Given the description of an element on the screen output the (x, y) to click on. 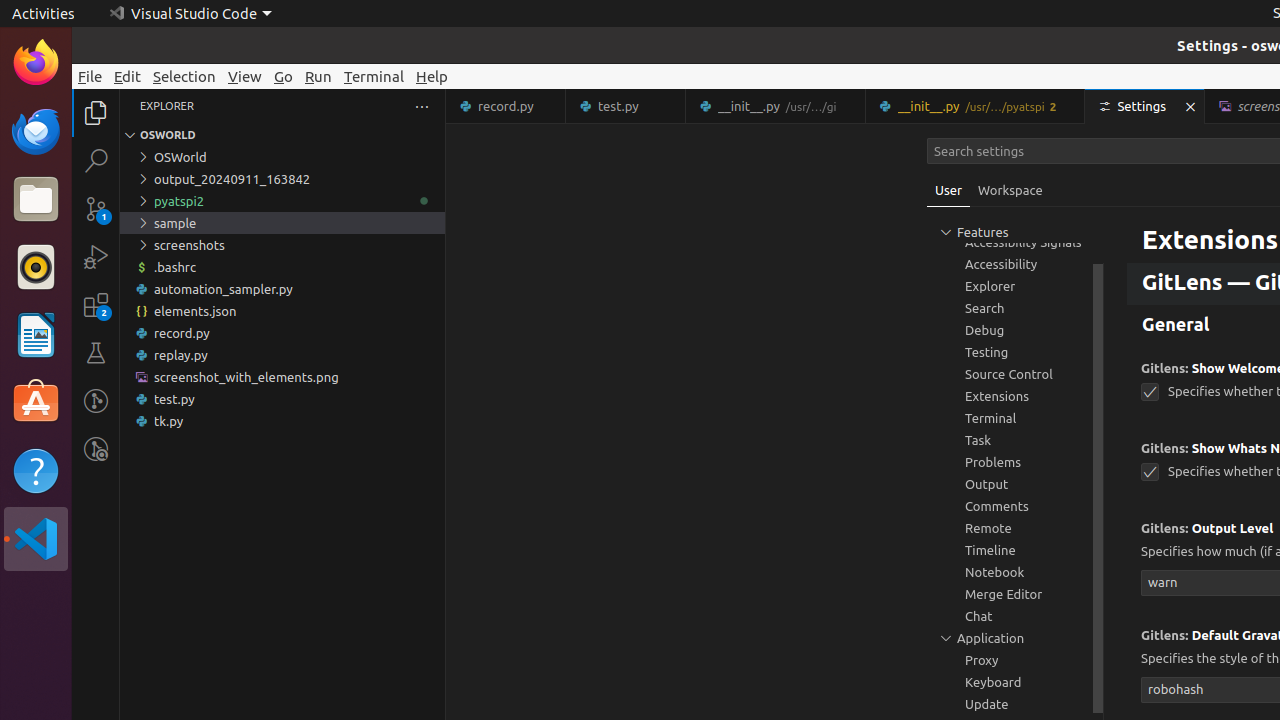
automation_sampler.py Element type: tree-item (282, 289)
Features, group Element type: tree-item (1015, 220)
Chat, group Element type: tree-item (1015, 616)
Selection Element type: push-button (184, 76)
tk.py Element type: tree-item (282, 421)
